Given the description of an element on the screen output the (x, y) to click on. 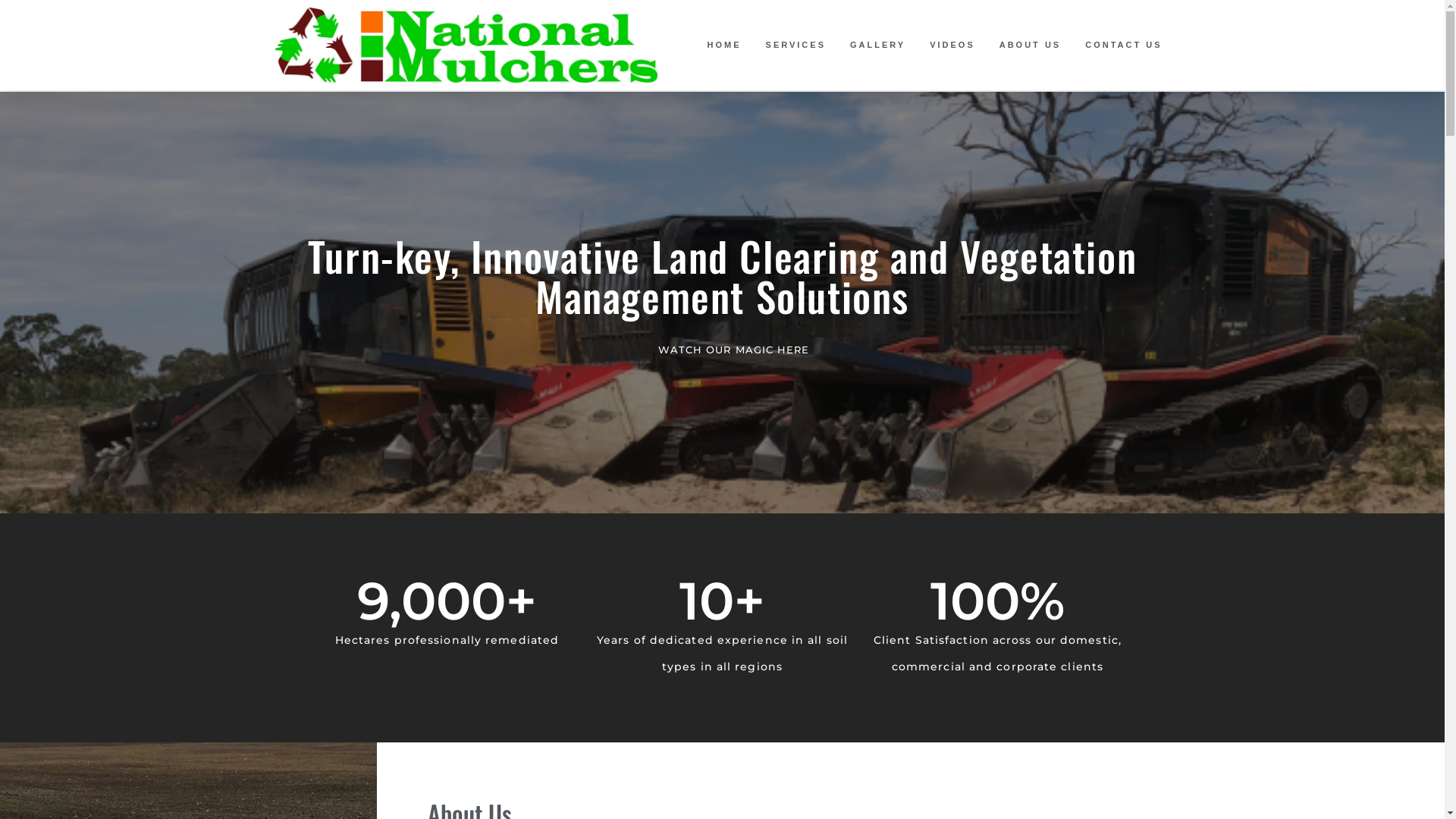
SERVICES Element type: text (795, 44)
ABOUT US Element type: text (1029, 44)
GALLERY Element type: text (877, 44)
CONTACT US Element type: text (1123, 44)
HOME Element type: text (724, 44)
VIDEOS Element type: text (952, 44)
